Given the description of an element on the screen output the (x, y) to click on. 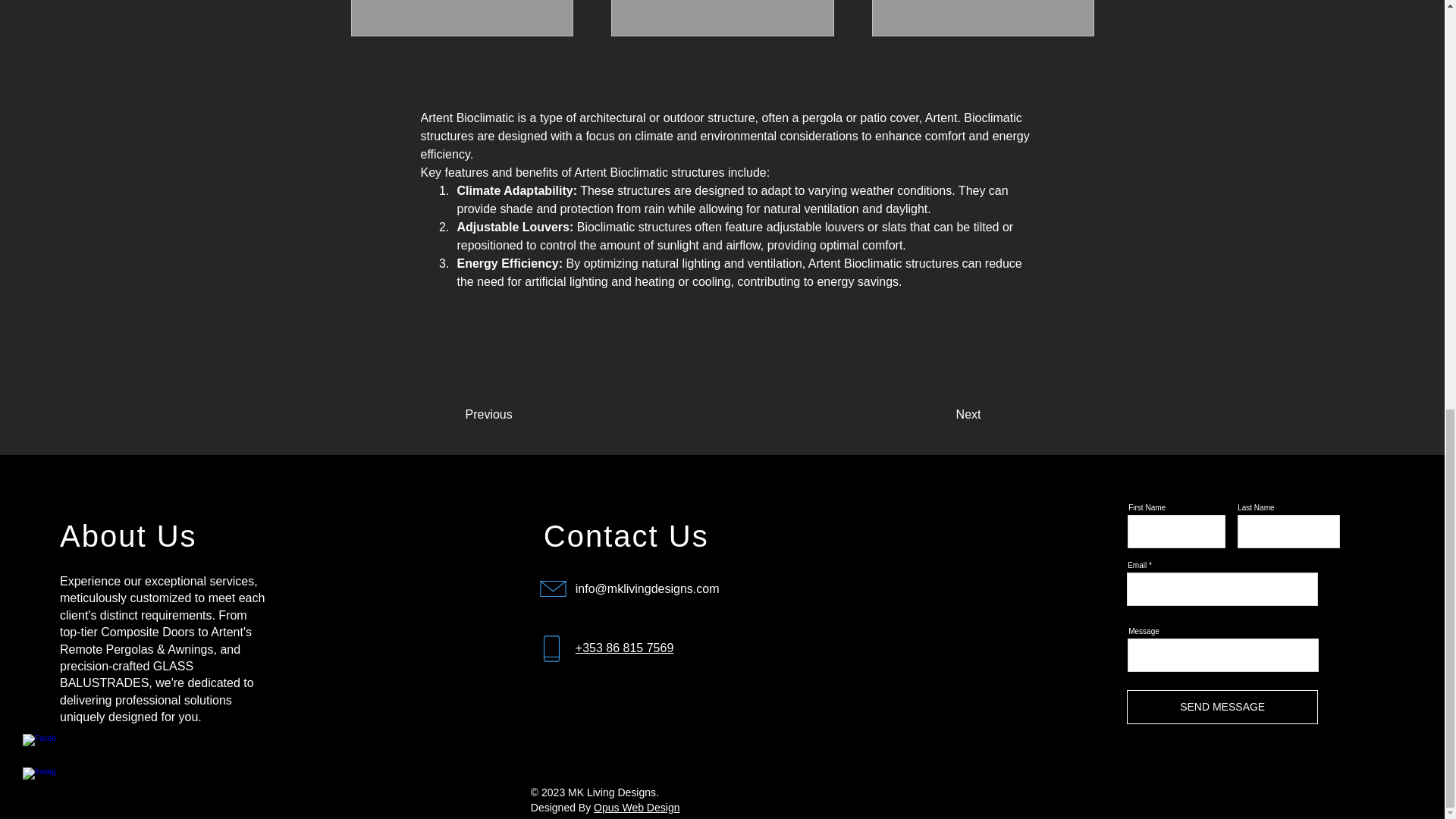
Opus Web Design (636, 807)
SEND MESSAGE (1221, 706)
Next (928, 414)
Previous (526, 414)
